Given the description of an element on the screen output the (x, y) to click on. 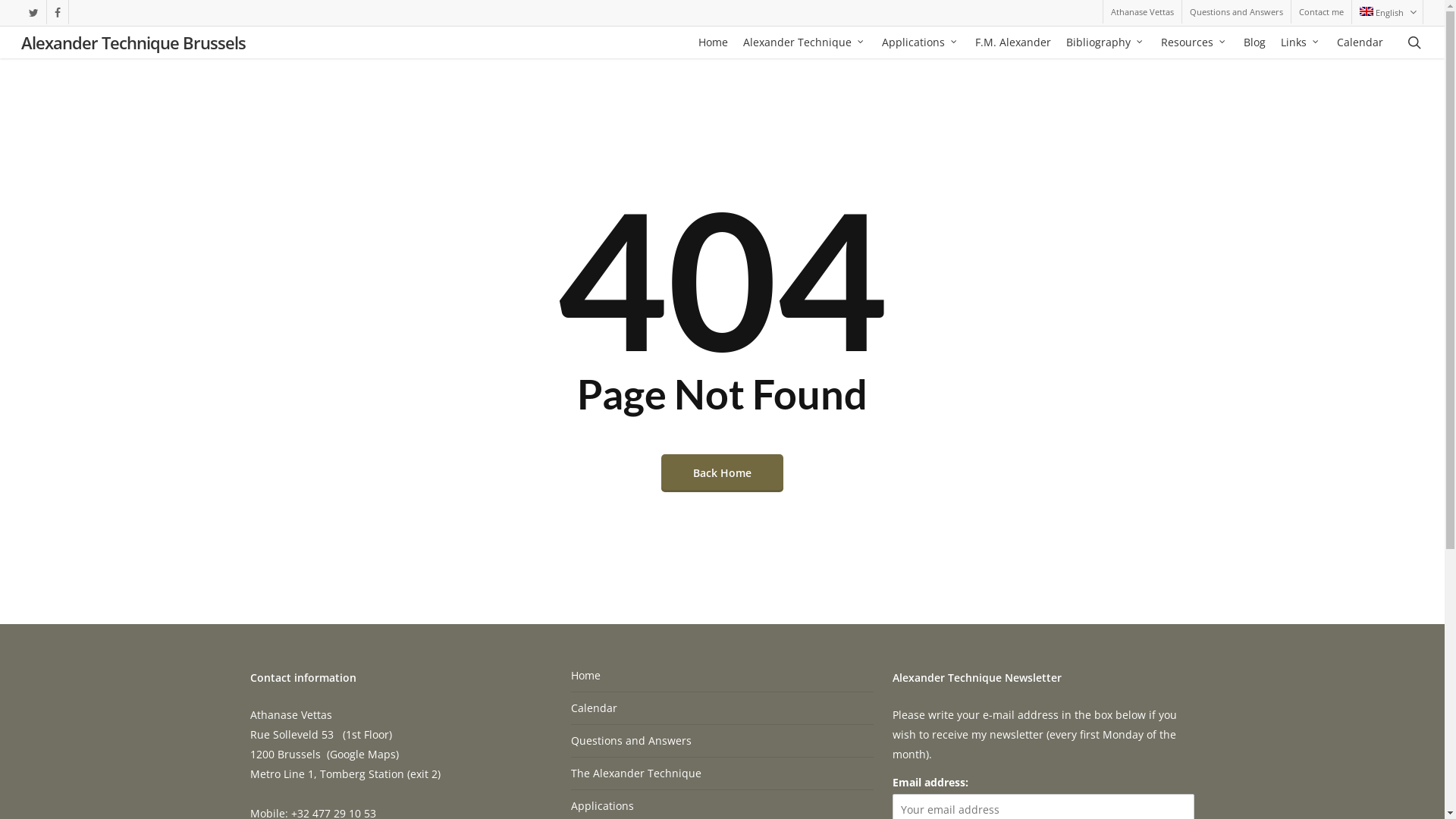
Alexander Technique Element type: text (804, 42)
Links Element type: text (1301, 42)
F.M. Alexander Element type: text (1012, 42)
Athanase Vettas Element type: text (1141, 11)
Google Maps Element type: text (362, 753)
Resources Element type: text (1194, 42)
Bibliography Element type: text (1105, 42)
Home Element type: text (721, 678)
Home Element type: text (712, 42)
search Element type: text (1414, 42)
Contact me Element type: text (1320, 11)
facebook Element type: text (57, 12)
The Alexander Technique Element type: text (721, 773)
Applications Element type: text (920, 42)
Back Home Element type: text (722, 472)
Questions and Answers Element type: text (721, 740)
Calendar Element type: text (721, 708)
Alexander Technique Brussels Element type: text (133, 42)
Questions and Answers Element type: text (1235, 11)
Calendar Element type: text (1359, 42)
Blog Element type: text (1254, 42)
English Element type: text (1386, 12)
twitter Element type: text (33, 12)
